Given the description of an element on the screen output the (x, y) to click on. 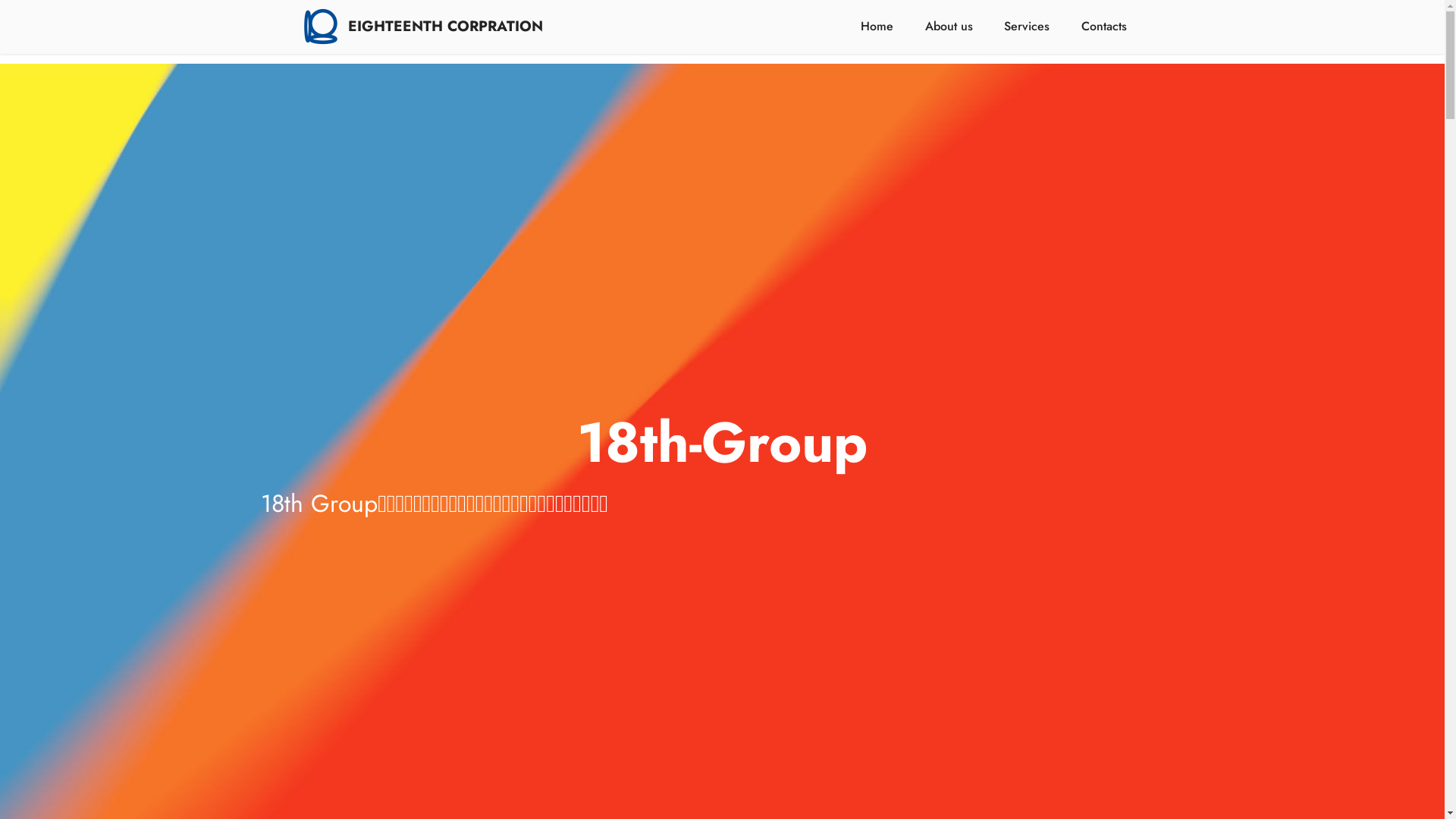
Contacts Element type: text (1103, 26)
EIGHTEENTH CORPRATION Element type: text (445, 25)
About us Element type: text (948, 26)
Services Element type: text (1026, 26)
Home Element type: text (876, 26)
